Given the description of an element on the screen output the (x, y) to click on. 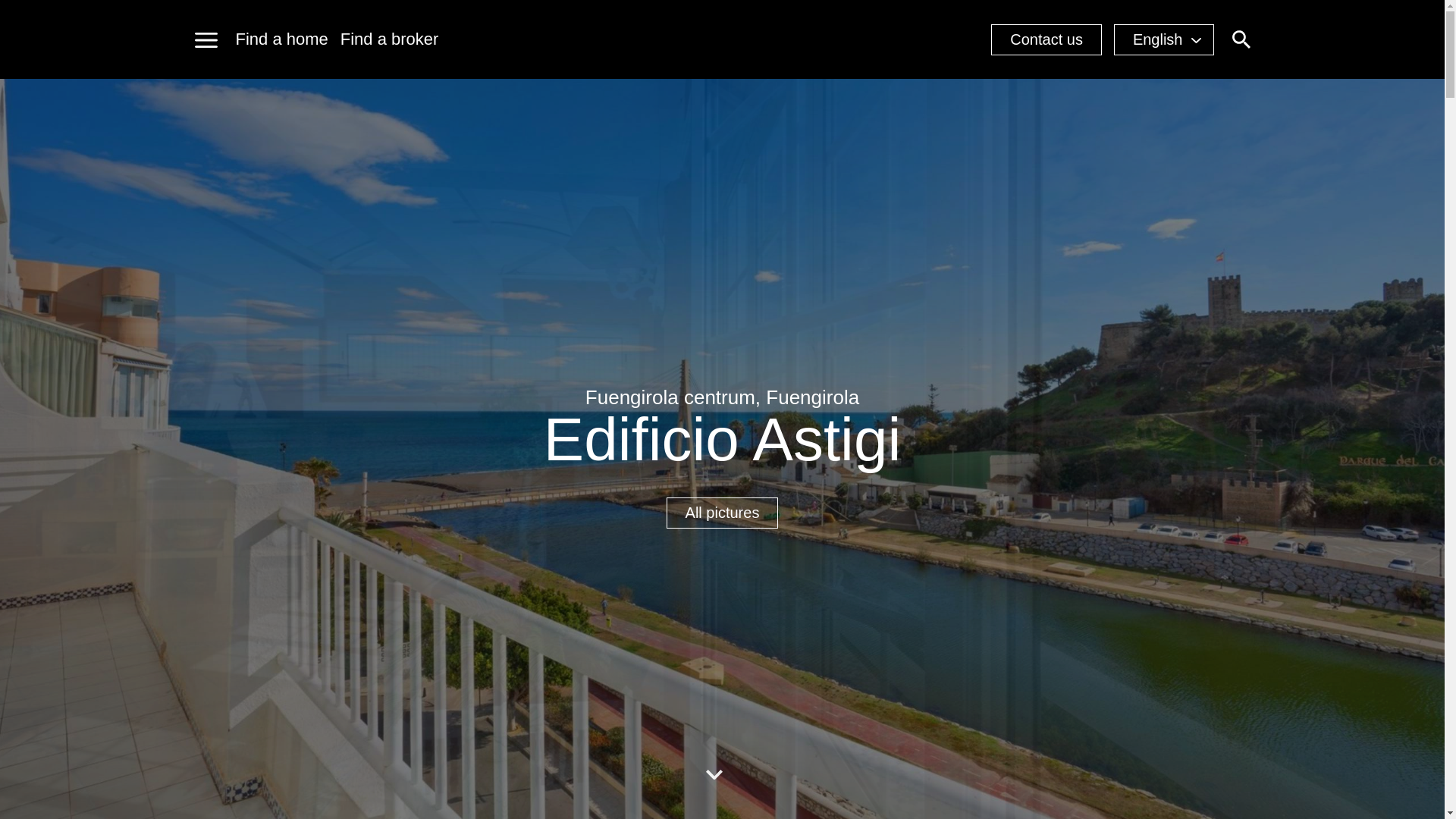
Find a home (280, 39)
All pictures (722, 512)
Search housing (1240, 39)
Contact us (1046, 39)
Find a broker (389, 39)
Open menu (204, 38)
